Given the description of an element on the screen output the (x, y) to click on. 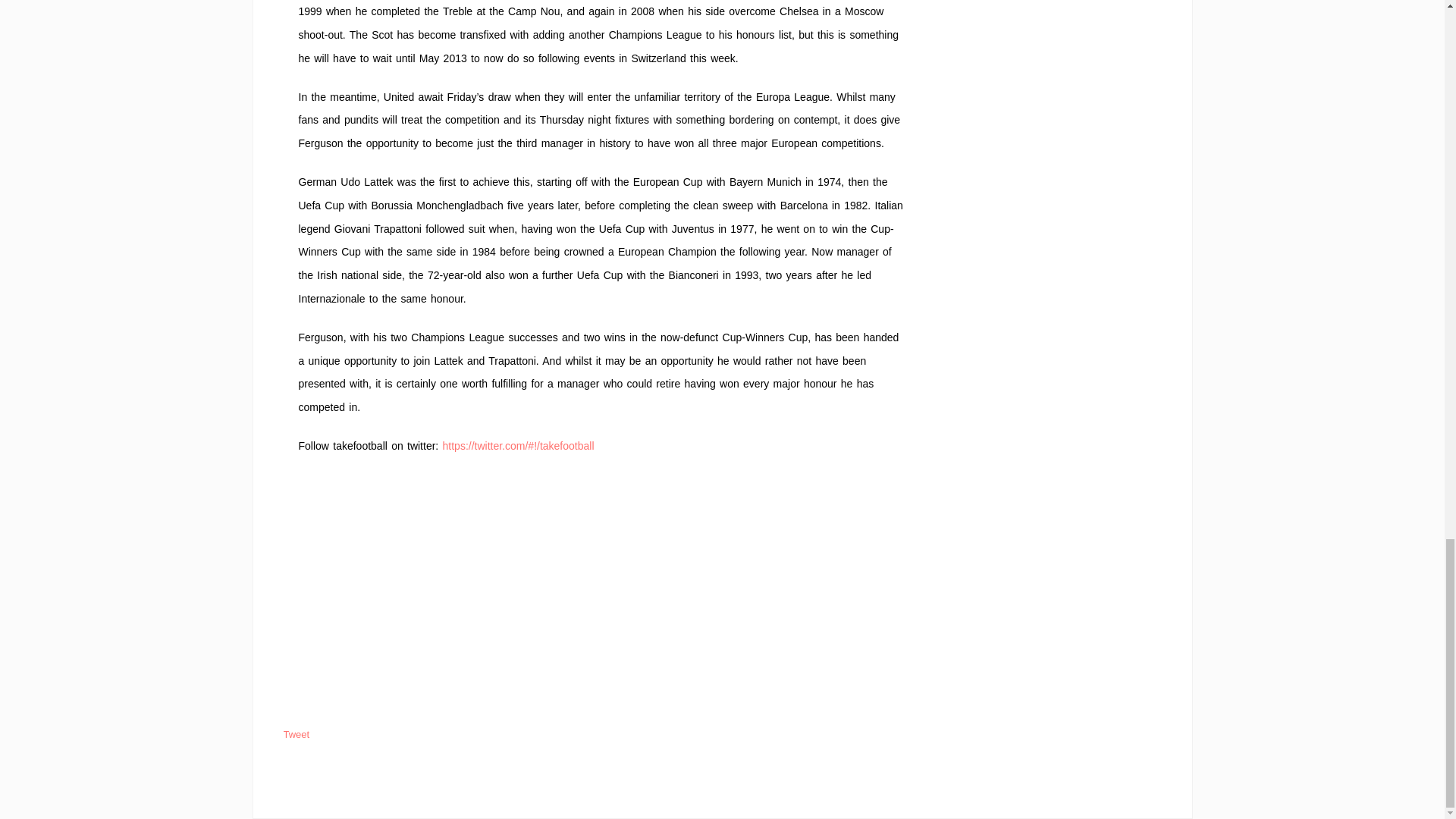
Tweet (296, 734)
